Given the description of an element on the screen output the (x, y) to click on. 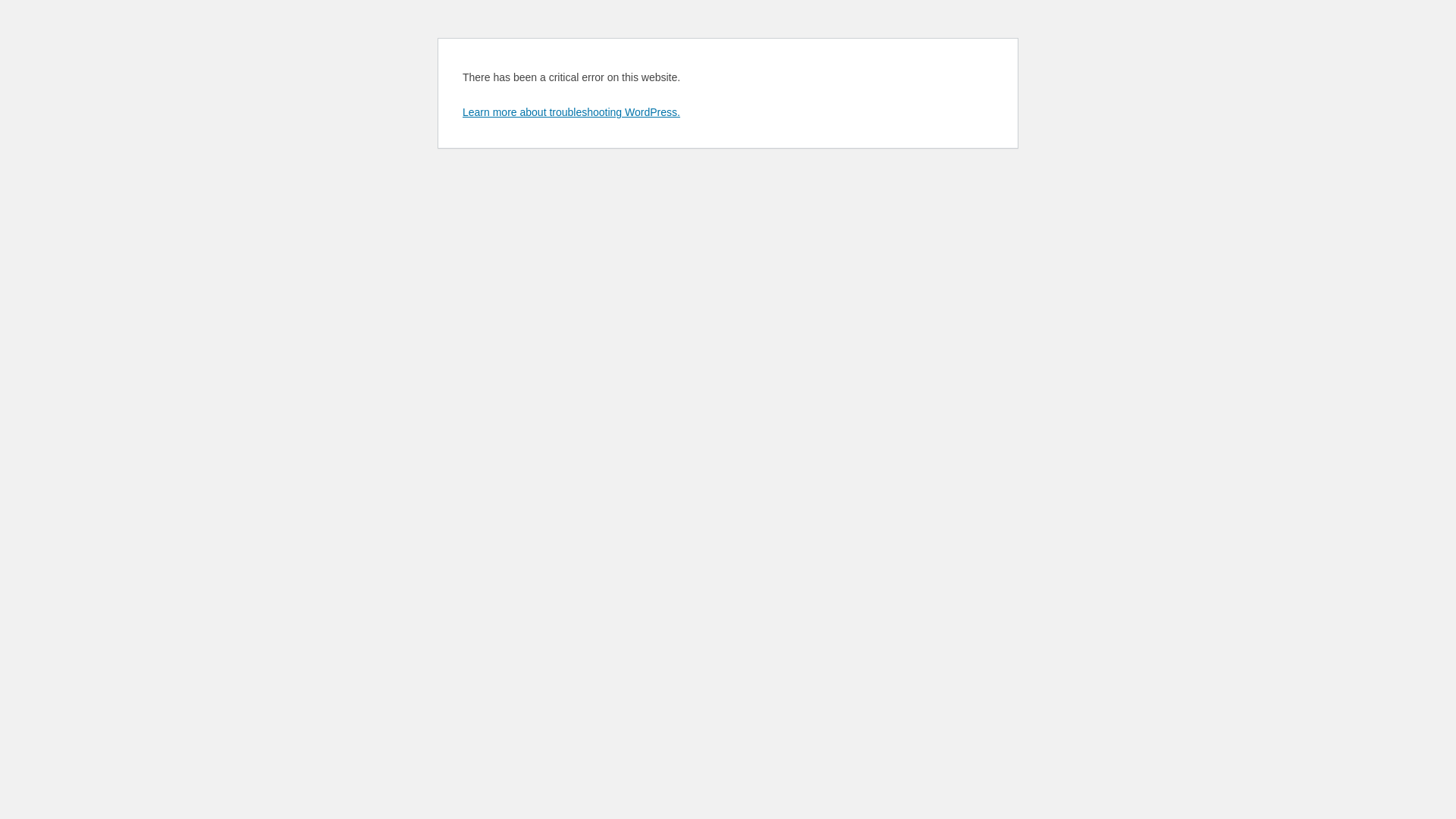
Learn more about troubleshooting WordPress. Element type: text (571, 112)
